Given the description of an element on the screen output the (x, y) to click on. 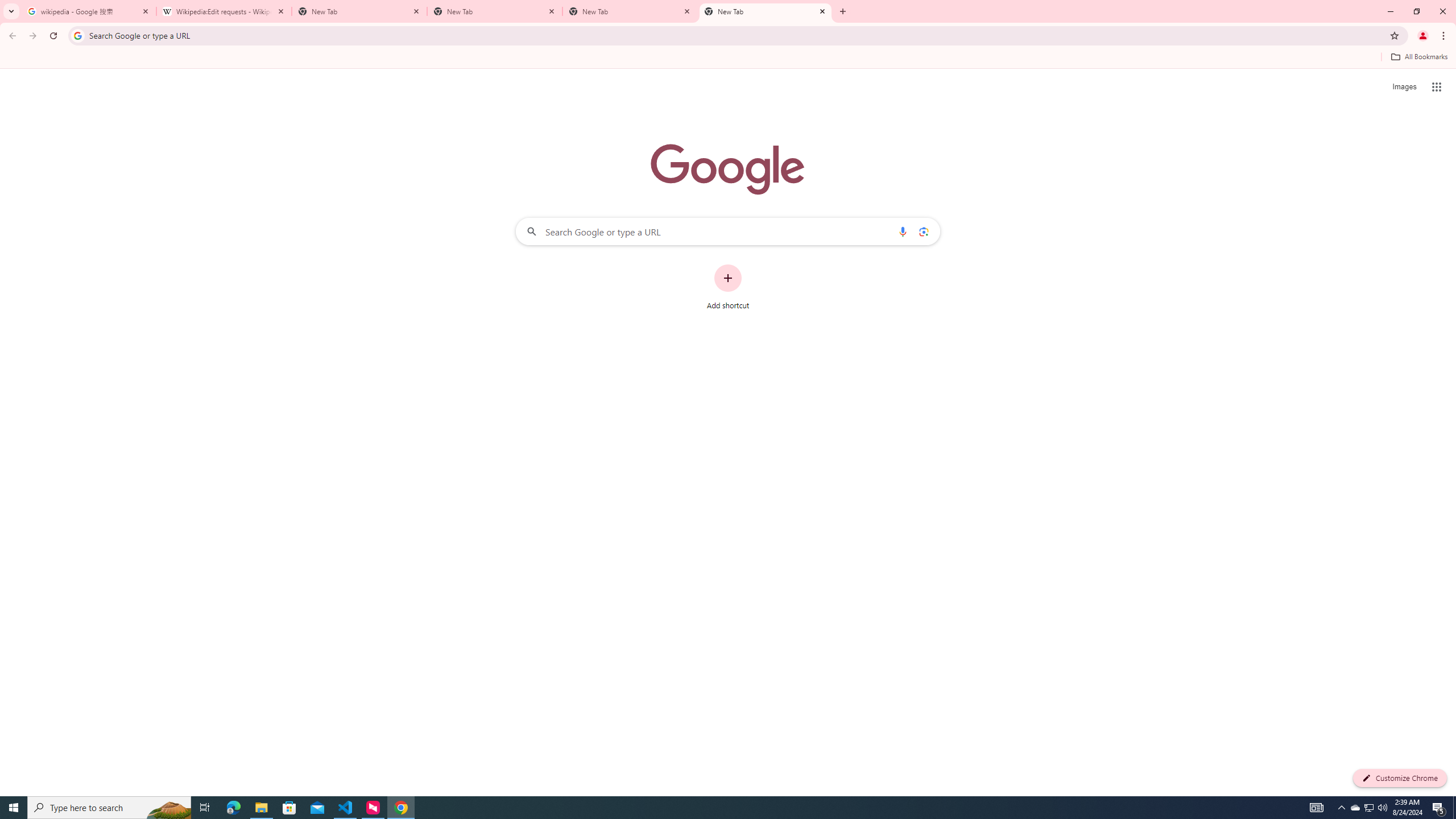
New Tab (494, 11)
New Tab (765, 11)
